Given the description of an element on the screen output the (x, y) to click on. 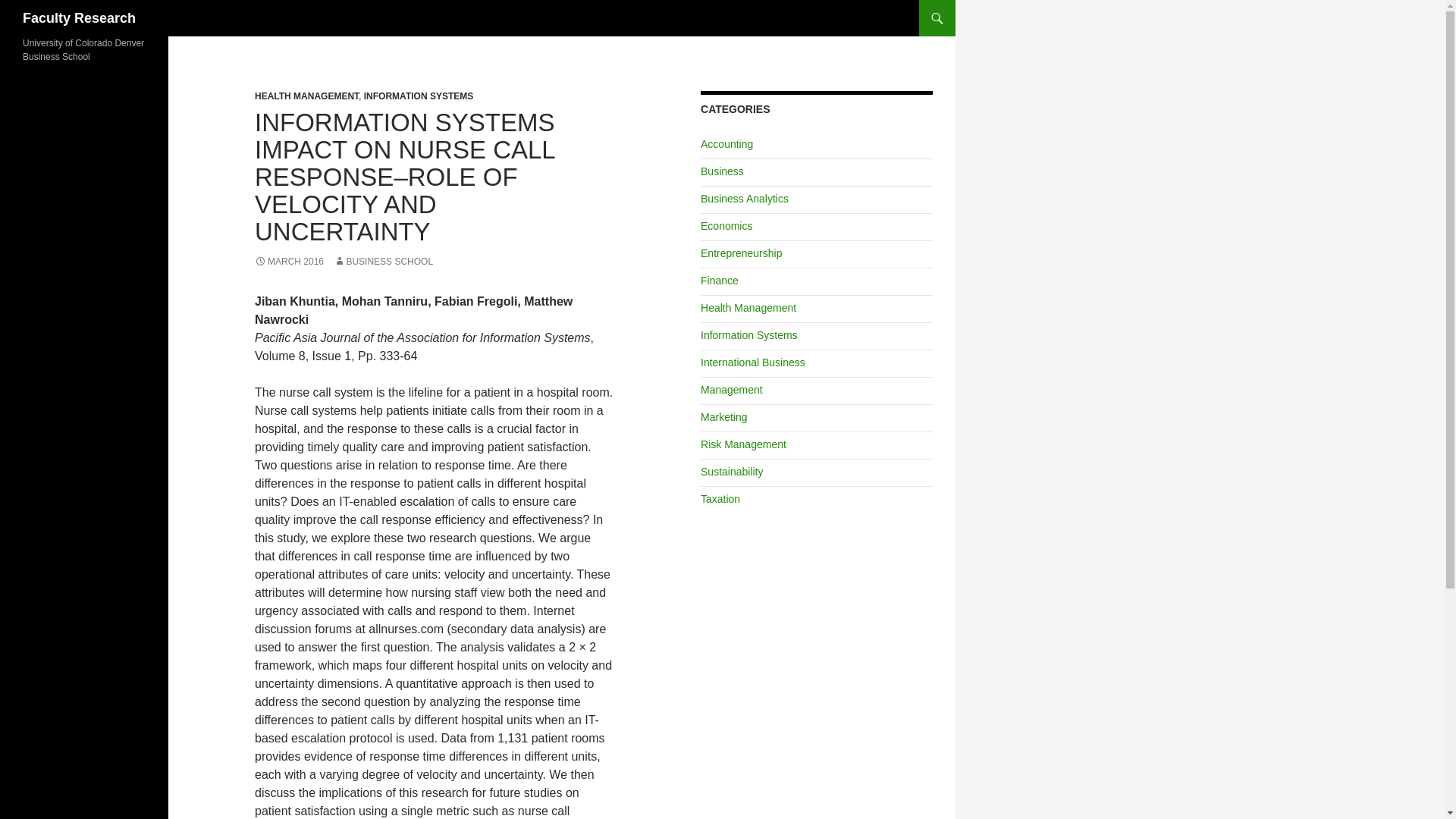
Sustainability (731, 471)
International Business (752, 362)
MARCH 2016 (288, 261)
Health Management (748, 307)
Entrepreneurship (740, 253)
Finance (719, 280)
Information Systems (748, 335)
HEALTH MANAGEMENT (306, 95)
Accounting (726, 143)
Risk Management (743, 444)
Economics (726, 225)
Business (722, 171)
INFORMATION SYSTEMS (418, 95)
Business Analytics (744, 198)
Taxation (719, 499)
